Given the description of an element on the screen output the (x, y) to click on. 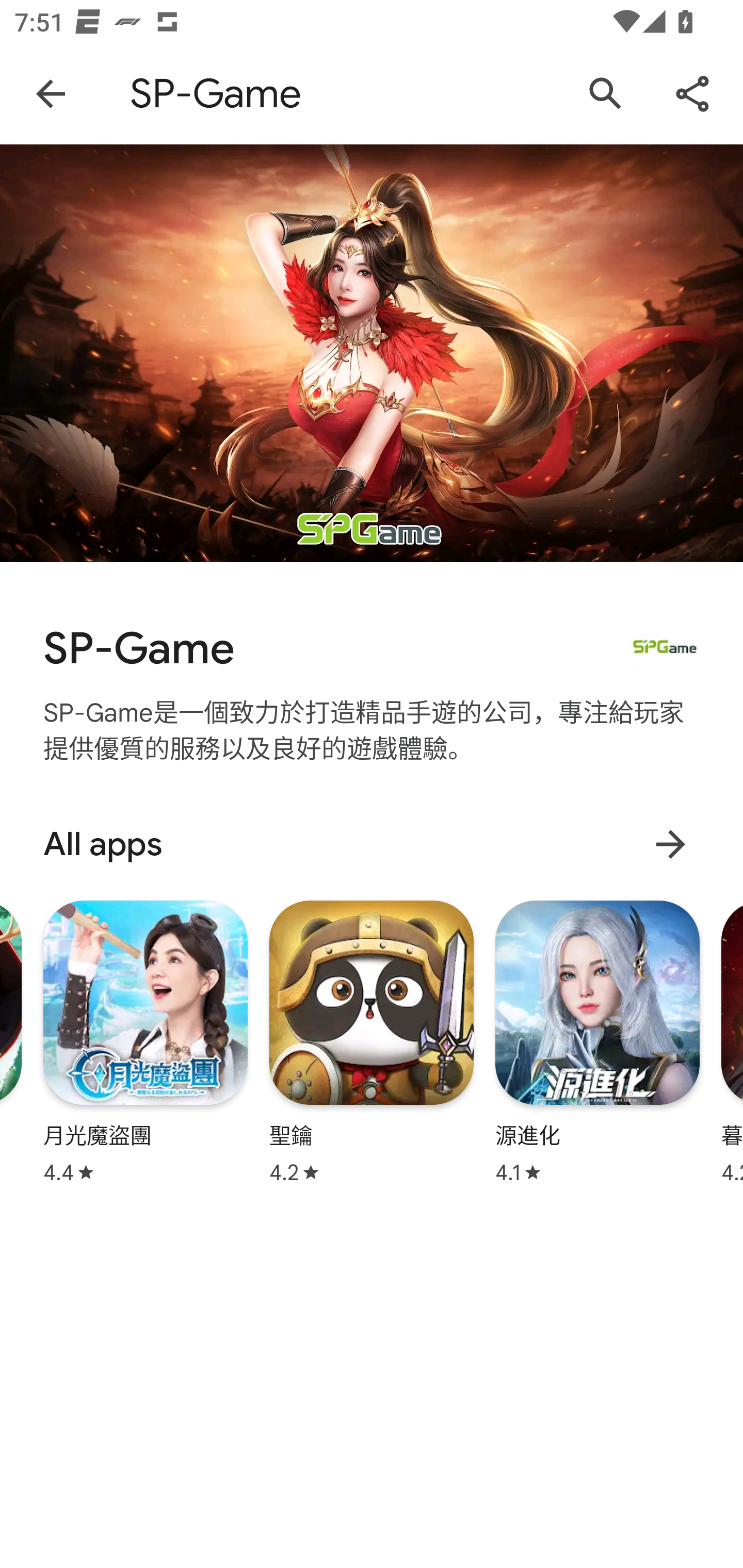
Navigate up (50, 93)
Search Google Play (605, 93)
Share (692, 93)
All apps More results for All apps (371, 844)
More results for All apps (670, 844)
月光魔盜團
Star rating: 4.4
 (145, 1041)
聖鑰
Star rating: 4.2
 (371, 1041)
源進化
Star rating: 4.1
 (597, 1041)
